Given the description of an element on the screen output the (x, y) to click on. 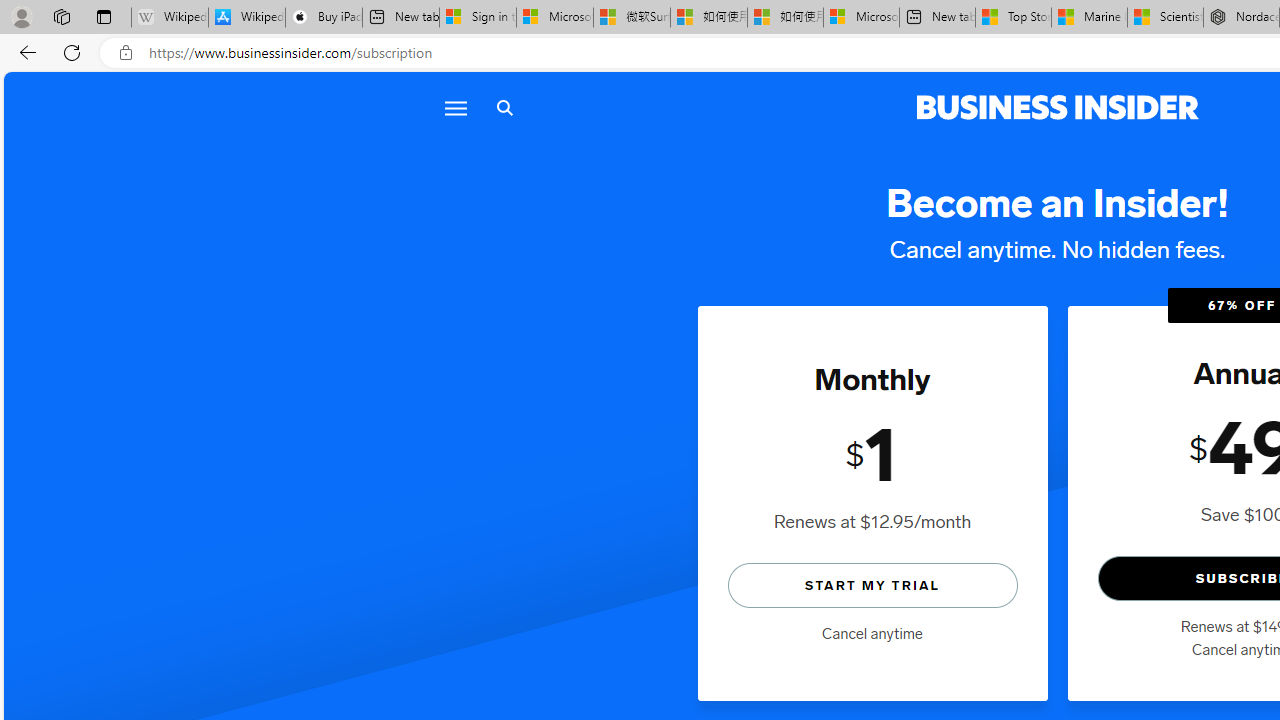
Business Insider logo (1057, 107)
Business Insider logo (1057, 107)
Search icon (504, 107)
Marine life - MSN (1089, 17)
Microsoft account | Account Checkup (861, 17)
START MY TRIAL (872, 584)
Go to the search page. (504, 107)
